Given the description of an element on the screen output the (x, y) to click on. 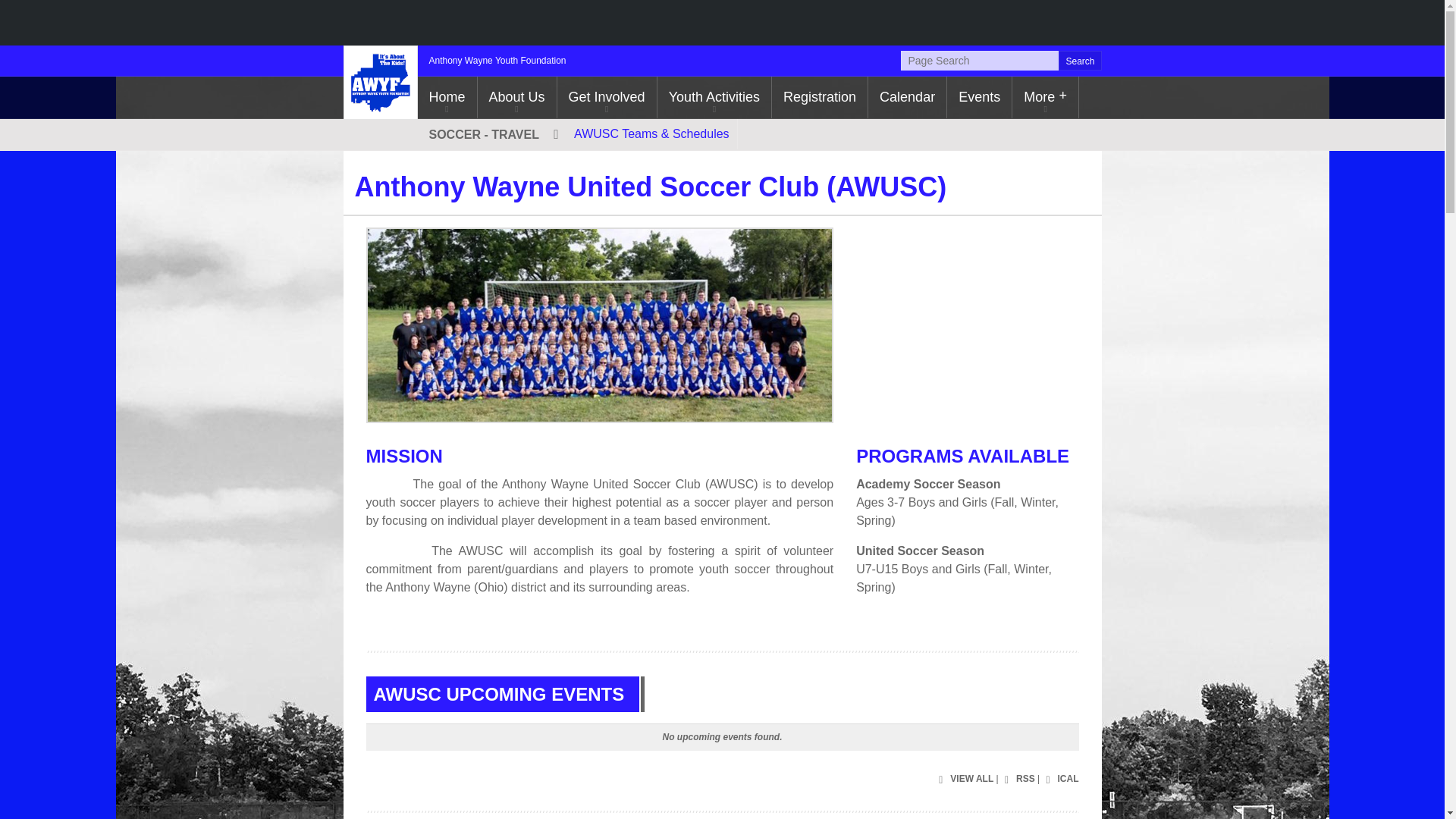
click to go to 'Calendar' (906, 96)
ICAL (1060, 779)
Home (446, 96)
Youth Activities (714, 96)
click to go to 'Youth Activities' (714, 96)
click to go to 'Home' (446, 96)
click to go to 'Get Involved' (606, 96)
RSS (1018, 779)
More (1044, 96)
Registration (819, 96)
